Given the description of an element on the screen output the (x, y) to click on. 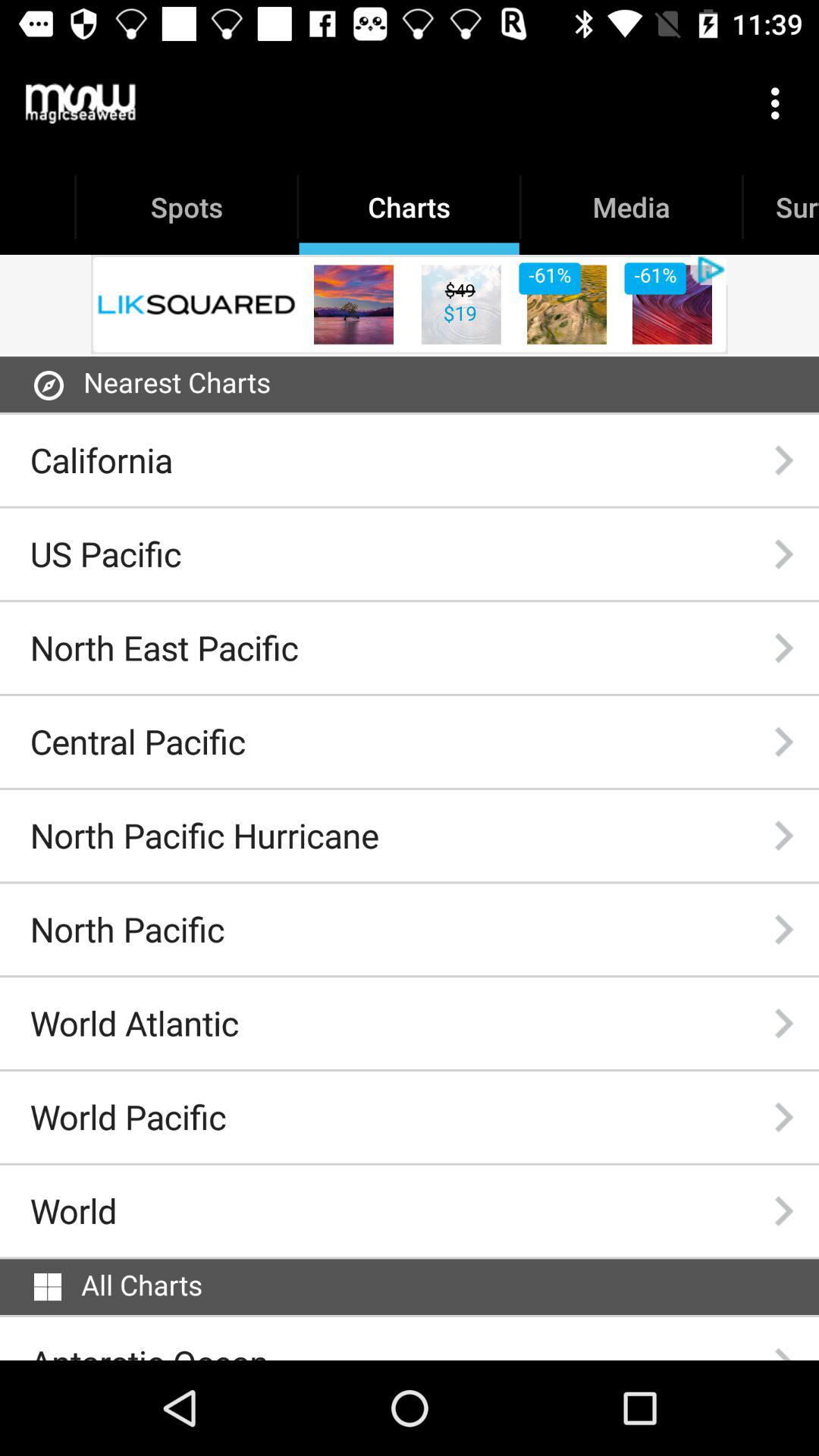
select the world atlantic item (134, 1022)
